Given the description of an element on the screen output the (x, y) to click on. 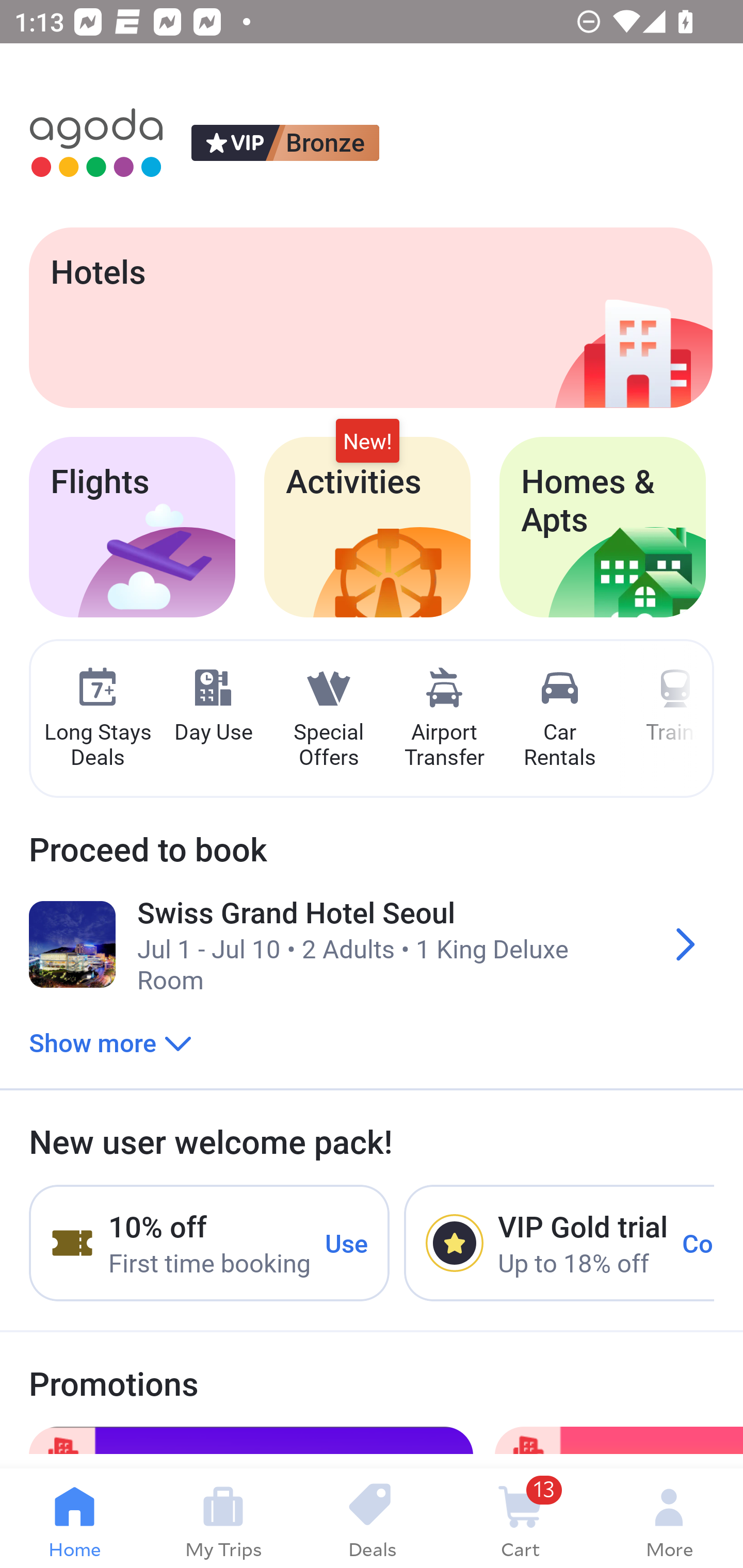
Hotels (370, 317)
New! (367, 441)
Flights (131, 527)
Activities (367, 527)
Homes & Apts (602, 527)
Day Use (213, 706)
Long Stays Deals (97, 718)
Special Offers (328, 718)
Airport Transfer (444, 718)
Car Rentals (559, 718)
Show more (110, 1041)
Use (346, 1242)
Home (74, 1518)
My Trips (222, 1518)
Deals (371, 1518)
13 Cart (519, 1518)
More (668, 1518)
